Given the description of an element on the screen output the (x, y) to click on. 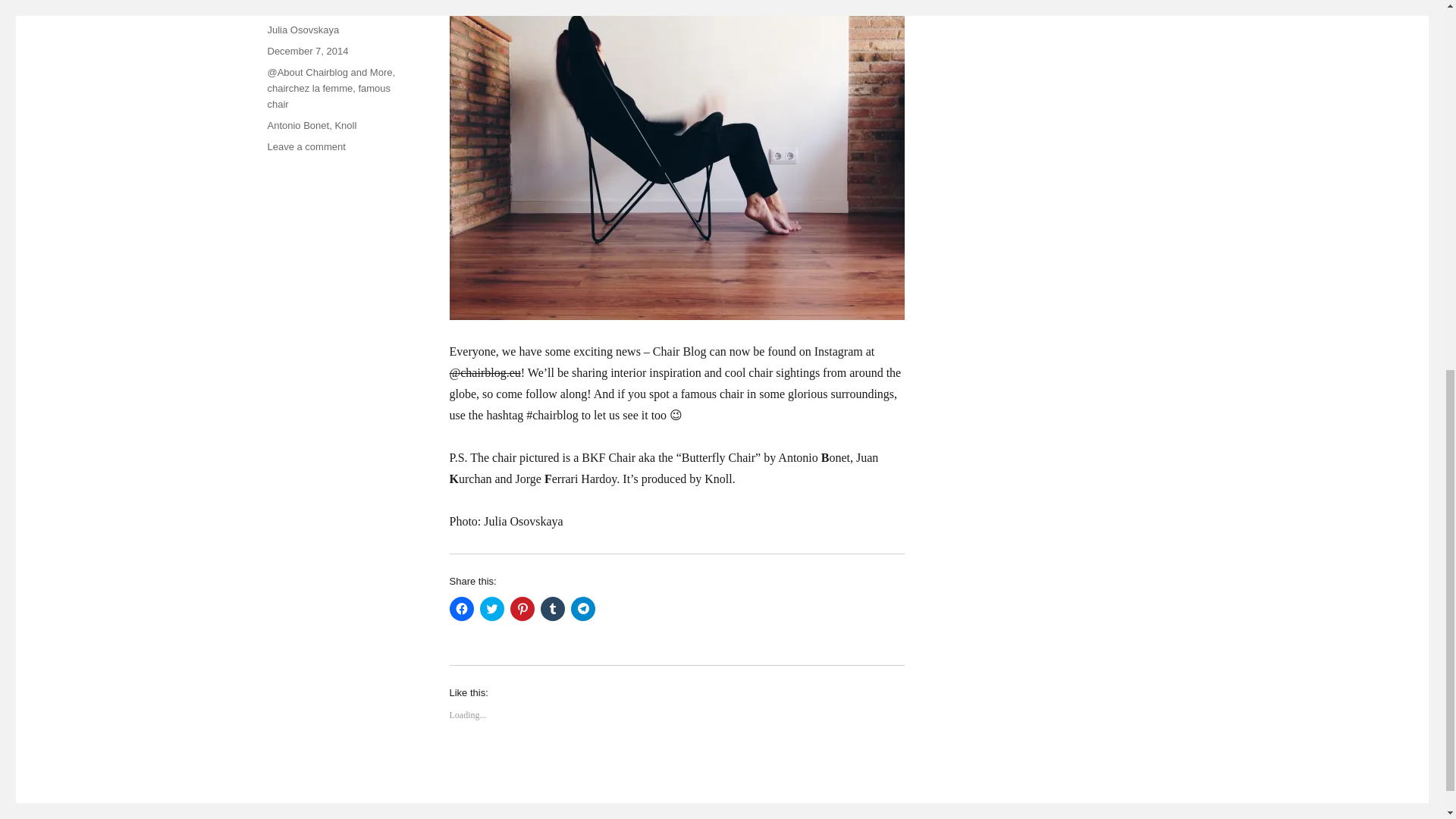
Edited (674, 393)
Click to share on Facebook (460, 608)
Click to share on Telegram (582, 608)
chairchez la femme (309, 88)
Click to share on Pinterest (305, 146)
December 7, 2014 (521, 608)
Edited (306, 50)
Knoll (662, 468)
Click to share on Tumblr (345, 125)
